Given the description of an element on the screen output the (x, y) to click on. 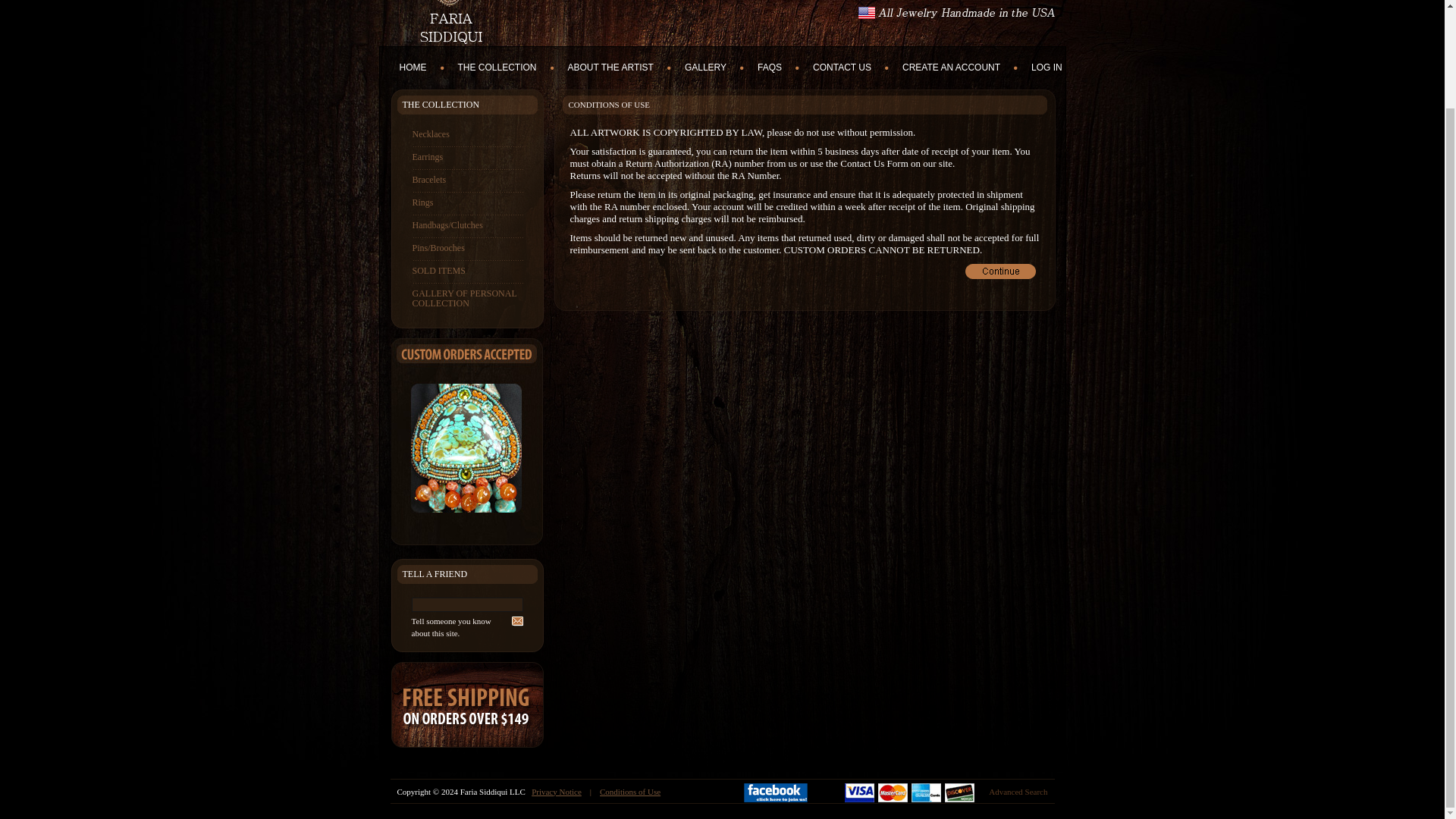
Conditions of Use (630, 791)
GALLERY OF PERSONAL COLLECTION (467, 298)
Privacy Notice (555, 791)
 Tell A Friend  (516, 621)
Bracelets (467, 179)
Advanced Search (1017, 791)
SOLD ITEMS (467, 271)
Necklaces (467, 134)
Rings (467, 202)
Earrings (467, 157)
 Continue  (999, 271)
